Given the description of an element on the screen output the (x, y) to click on. 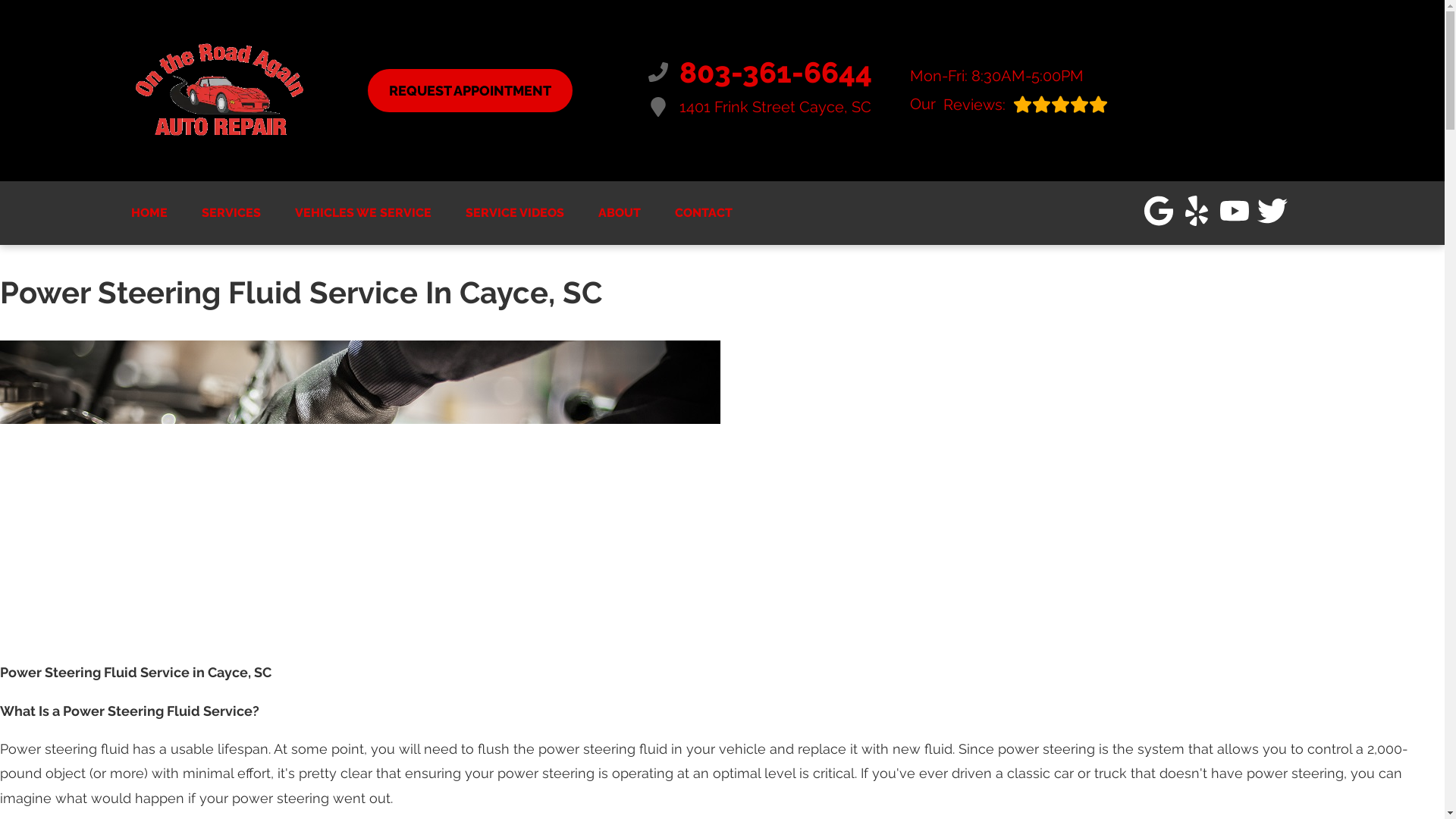
Our Reviews (758, 107)
REQUEST APPOINTMENT (1009, 103)
SERVICES (1009, 103)
Call On The Road Again Auto Repair (469, 90)
HOME (231, 212)
Make an Appointment (758, 72)
803-361-6644 (149, 212)
Home (469, 90)
On The Road Again Auto Repair (758, 72)
Services (149, 212)
